Given the description of an element on the screen output the (x, y) to click on. 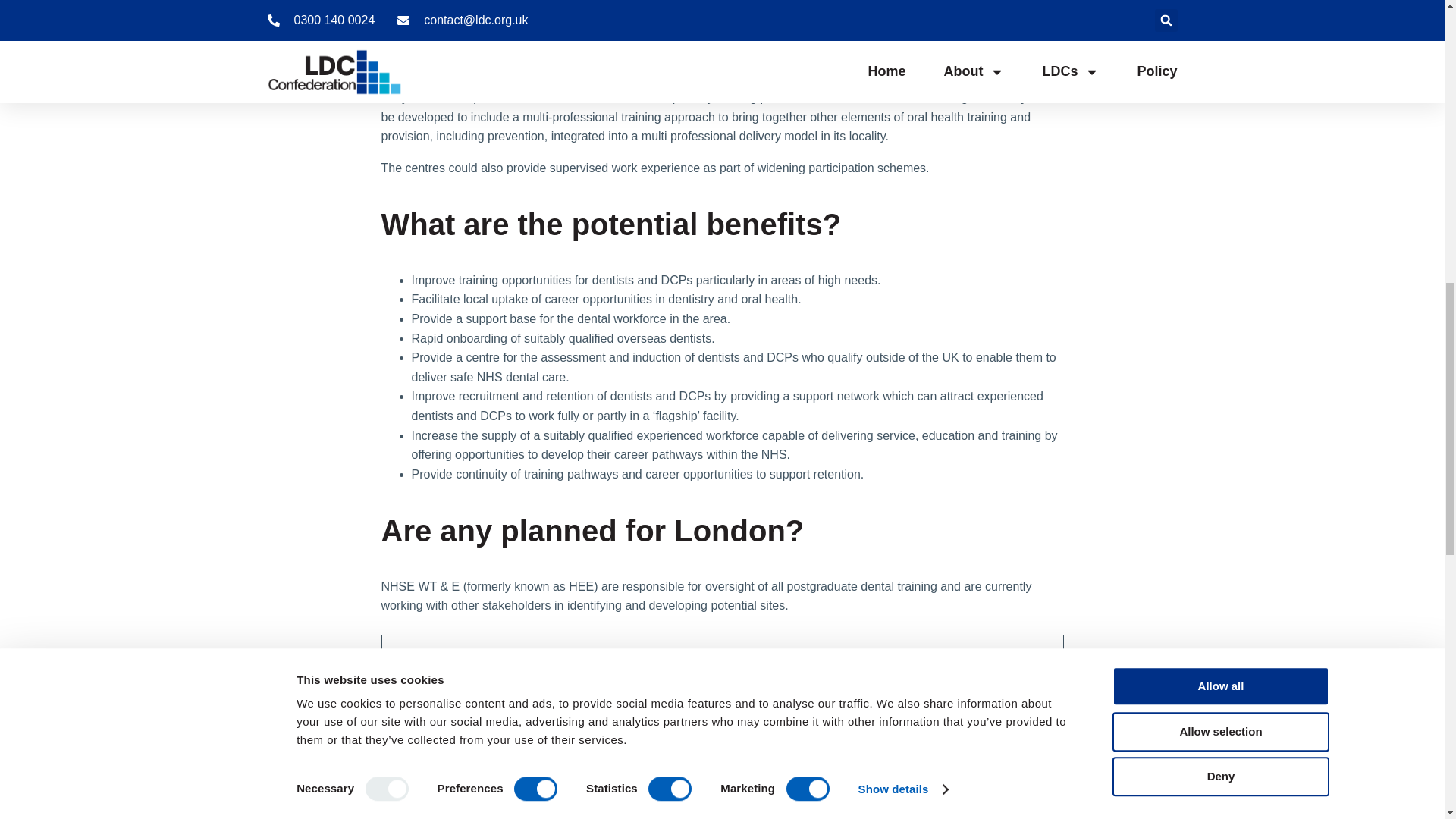
Centres for Dental Development 1 (449, 688)
